Given the description of an element on the screen output the (x, y) to click on. 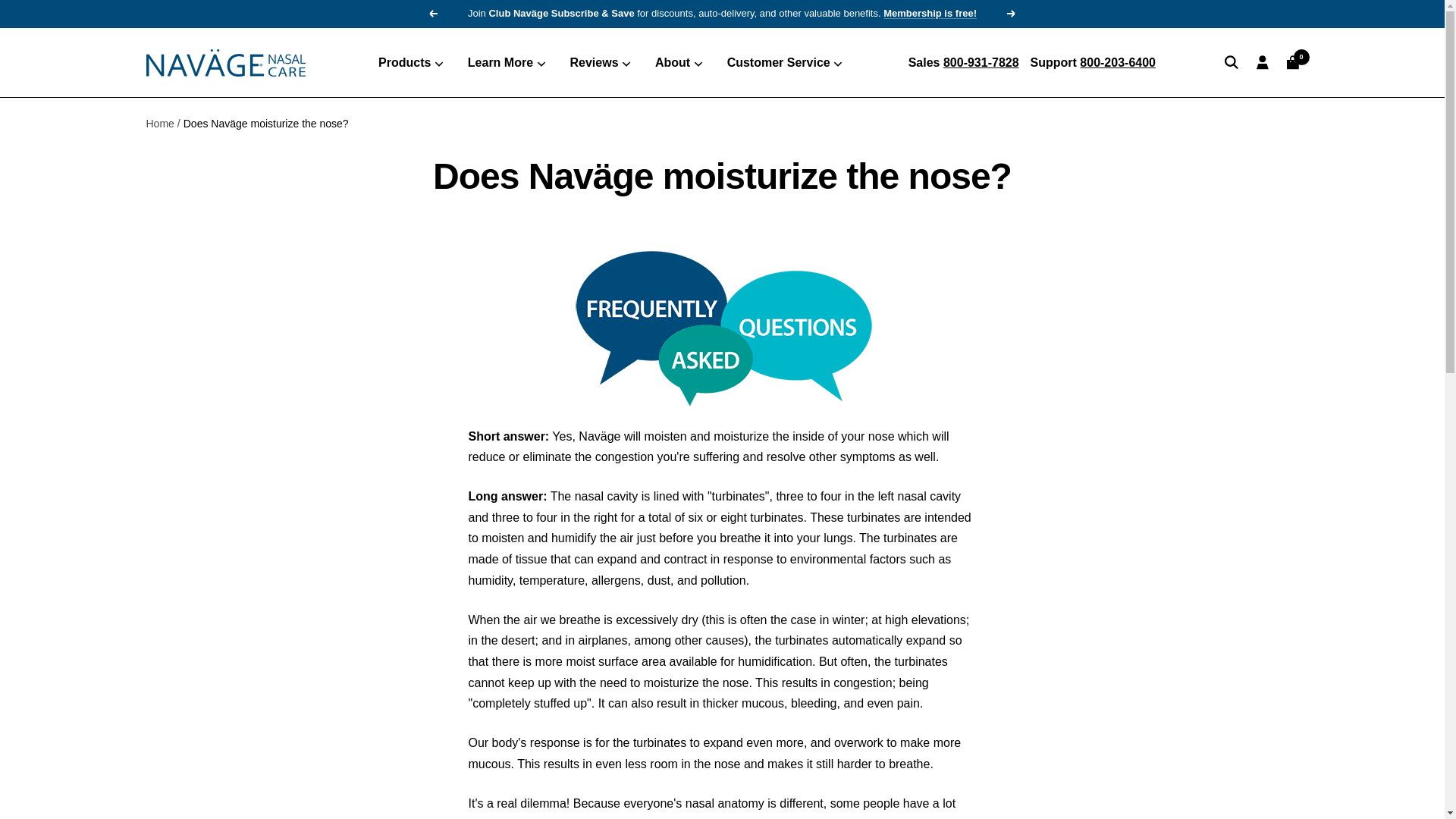
Customer Service (784, 62)
Learn More (506, 62)
Previous (433, 13)
Membership is free! (929, 12)
800-203-6400 (1118, 62)
About (679, 62)
Reviews (600, 62)
Home (159, 123)
Next (1011, 13)
800-931-7828 (981, 62)
Products (411, 62)
Subscribe and Save (929, 12)
